Given the description of an element on the screen output the (x, y) to click on. 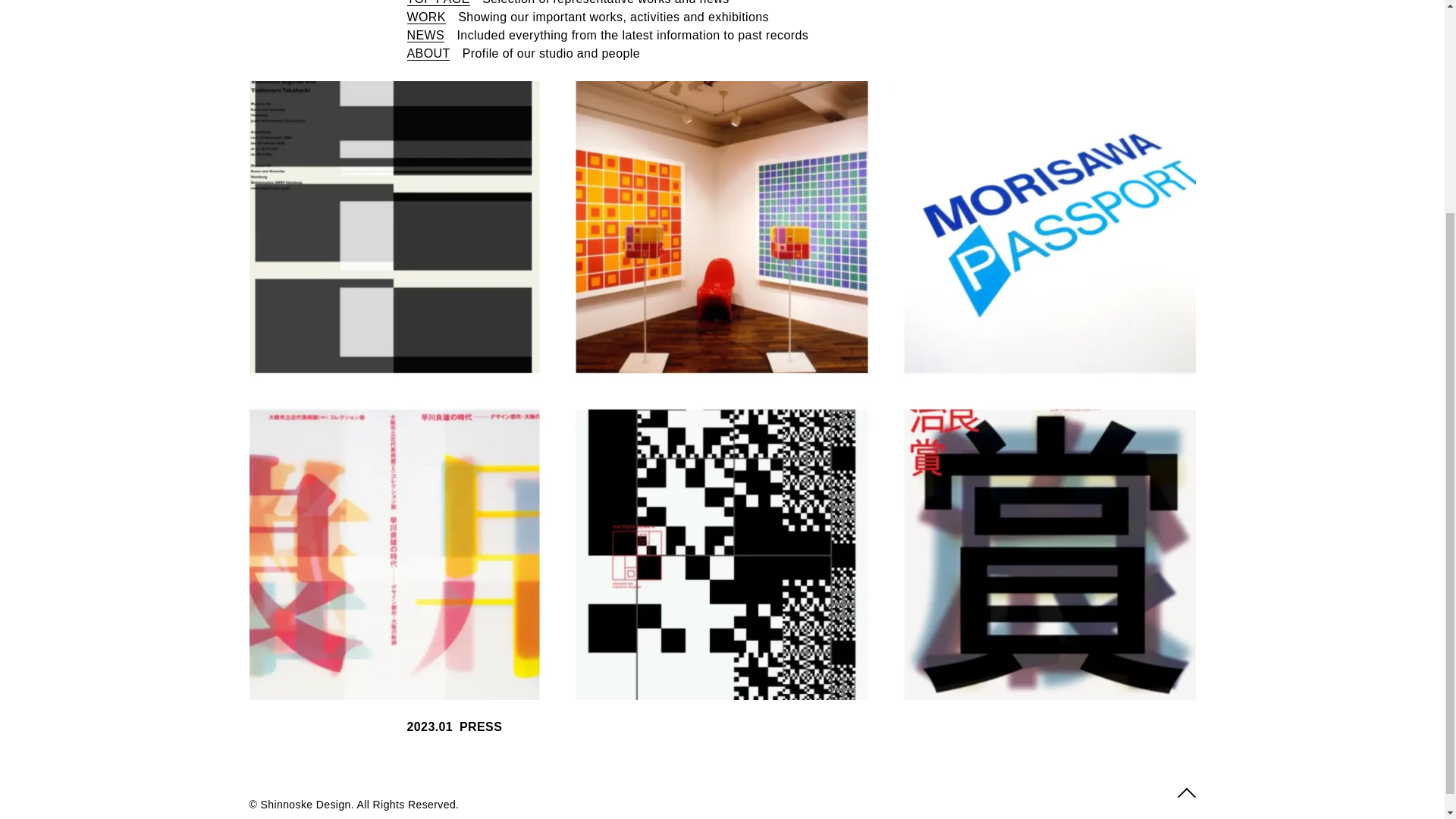
ABOUT (427, 53)
WORK (425, 17)
TOP PAGE (437, 2)
NEWS (425, 35)
